Given the description of an element on the screen output the (x, y) to click on. 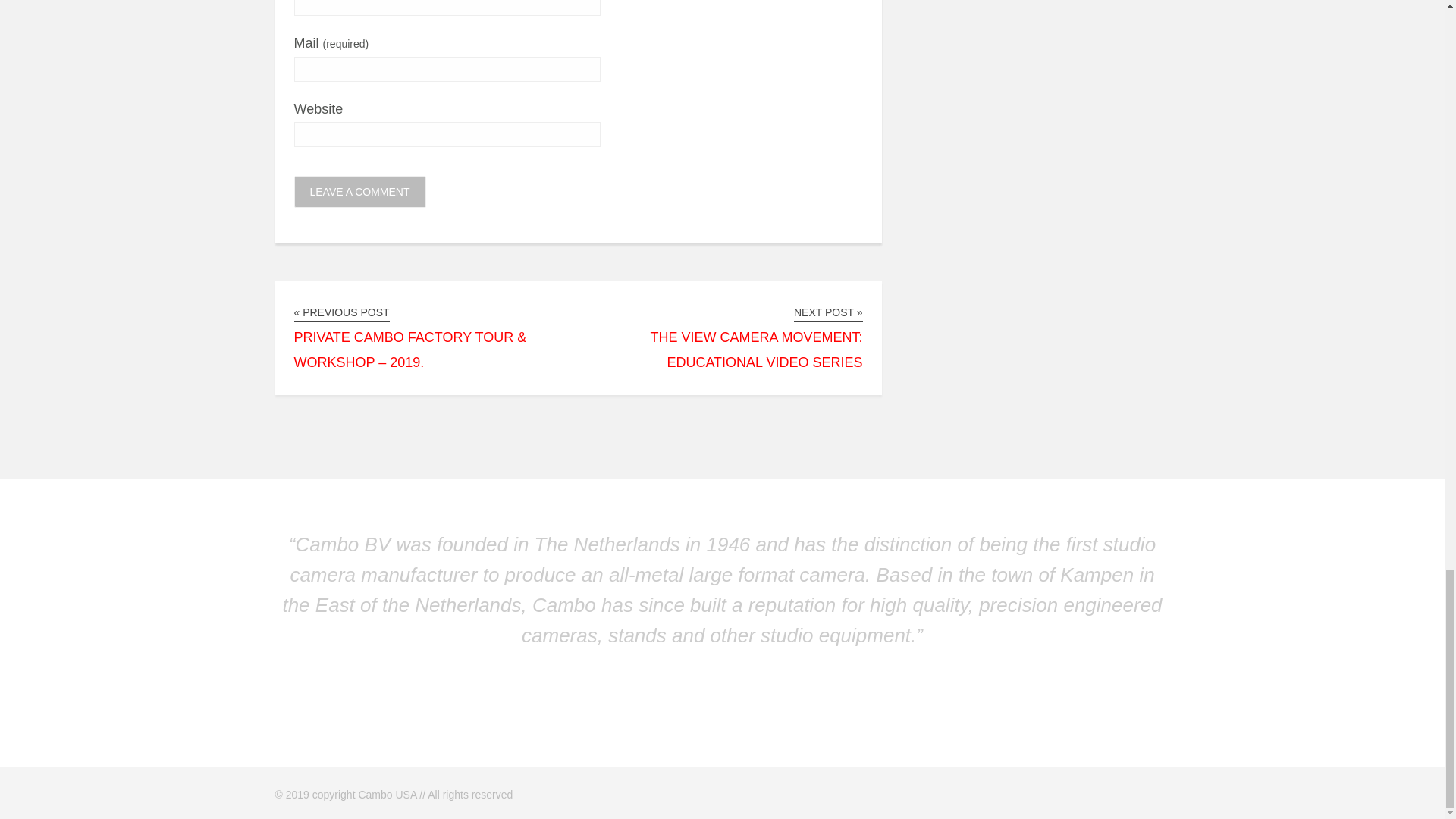
Leave a Comment (360, 192)
